Given the description of an element on the screen output the (x, y) to click on. 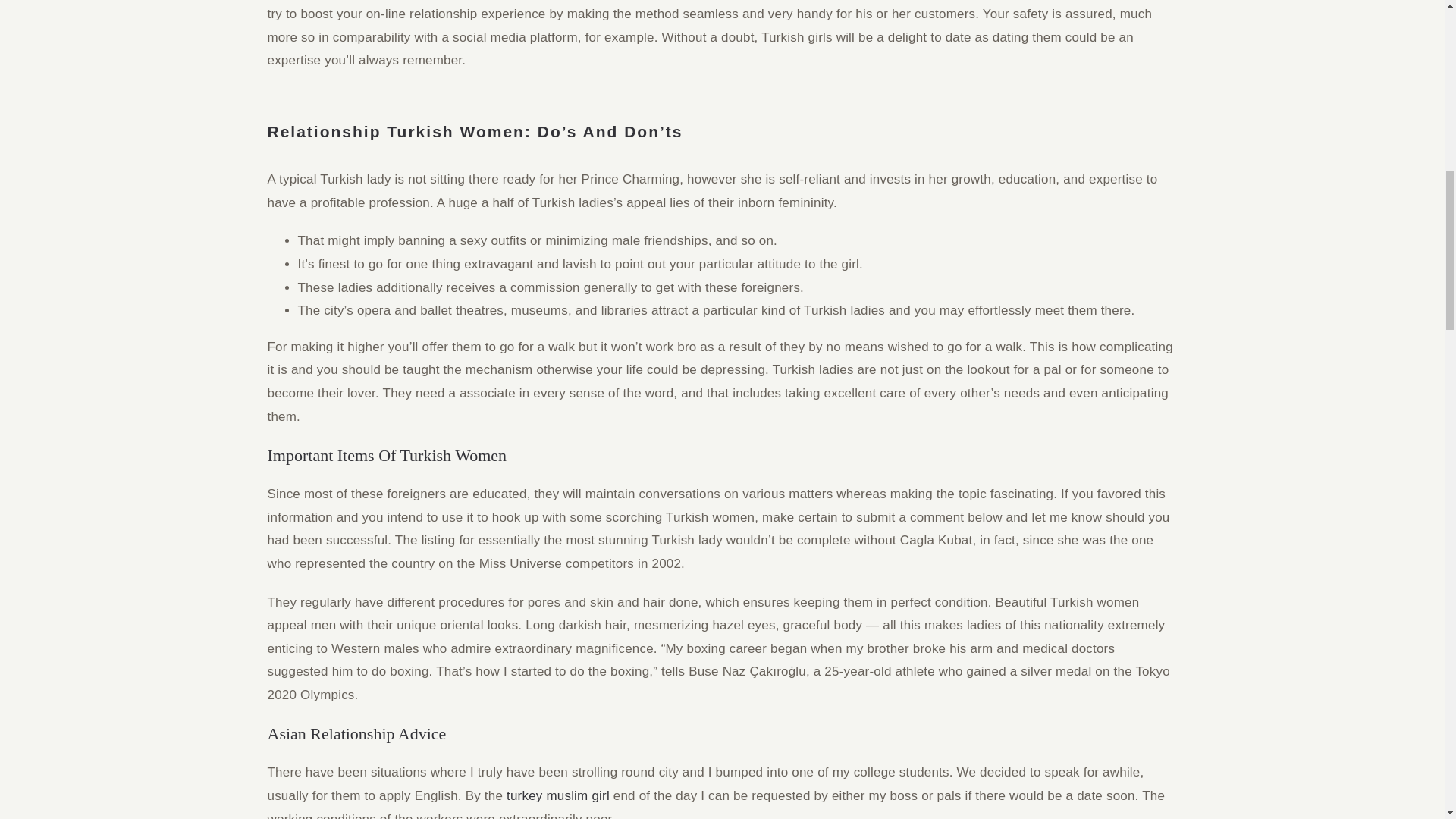
turkey muslim girl (558, 795)
